Given the description of an element on the screen output the (x, y) to click on. 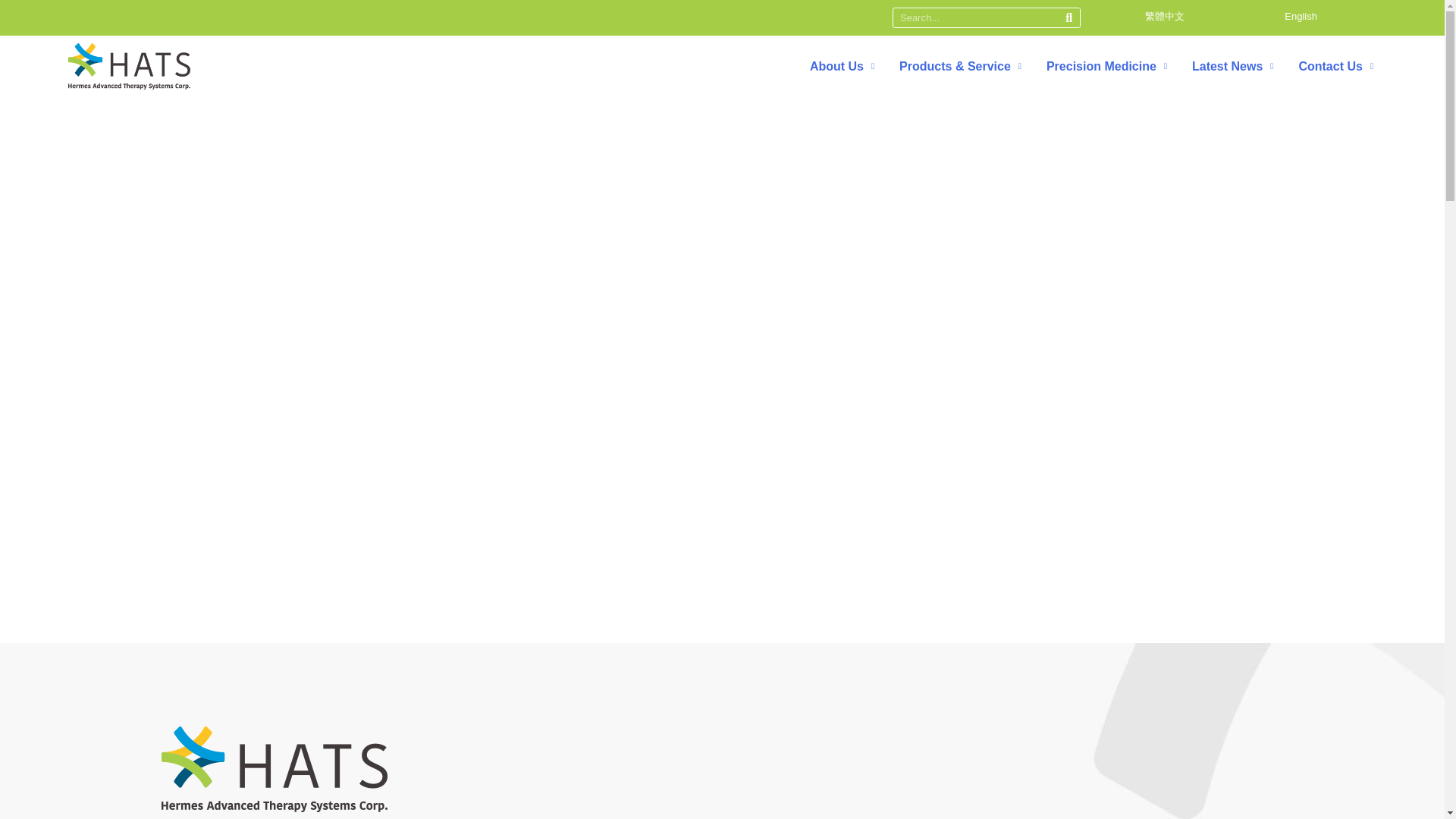
Search (1069, 17)
English (1301, 15)
Latest News (1232, 66)
About Us (841, 66)
Contact Us (1335, 66)
Precision Medicine (1106, 66)
